Given the description of an element on the screen output the (x, y) to click on. 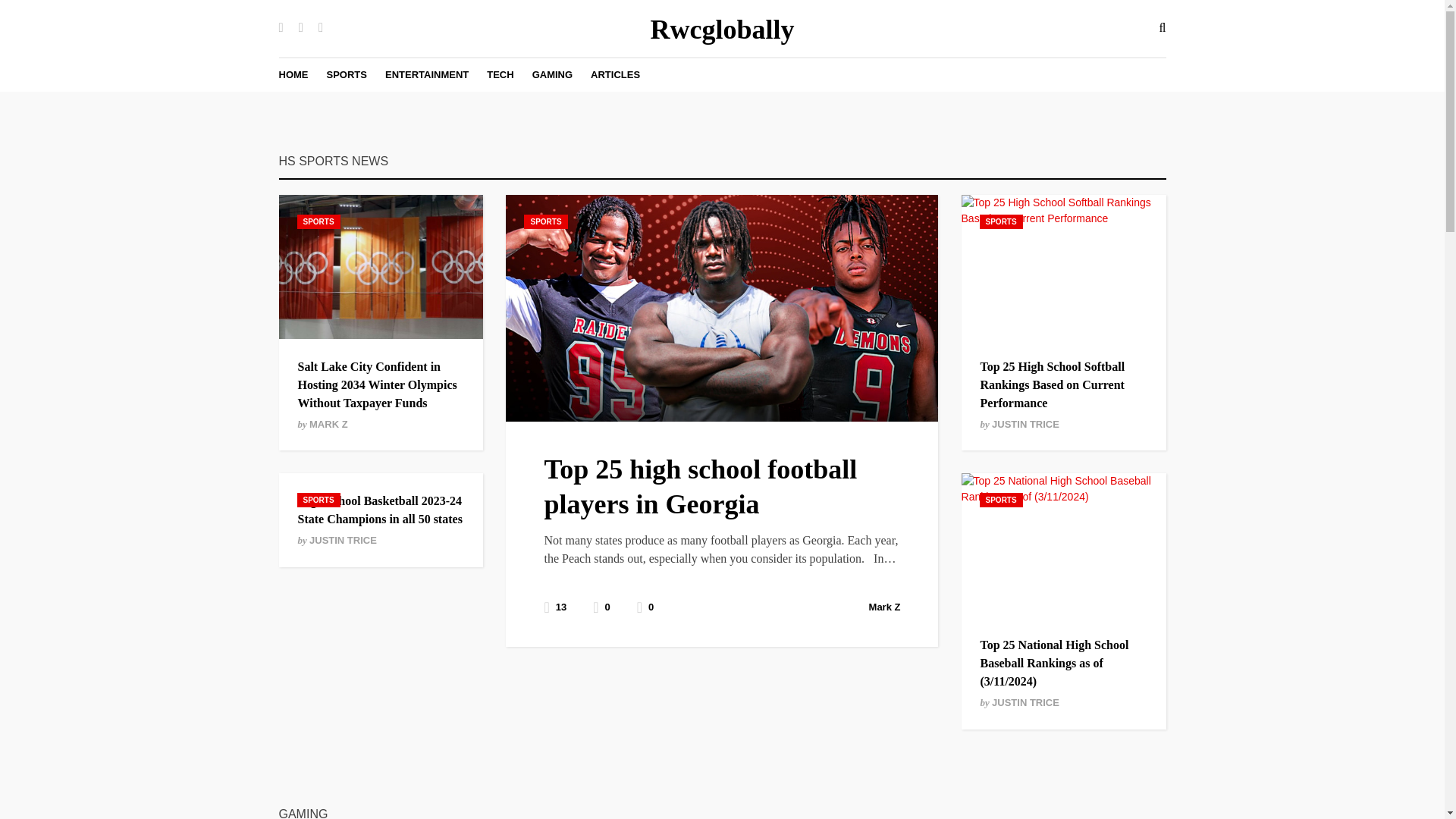
SPORTS (545, 221)
JUSTIN TRICE (1025, 423)
Top 25 high school football players in Georgia (700, 487)
JUSTIN TRICE (1025, 702)
SPORTS (346, 74)
GAMING (552, 74)
MARK Z (327, 423)
SPORTS (1001, 499)
